Given the description of an element on the screen output the (x, y) to click on. 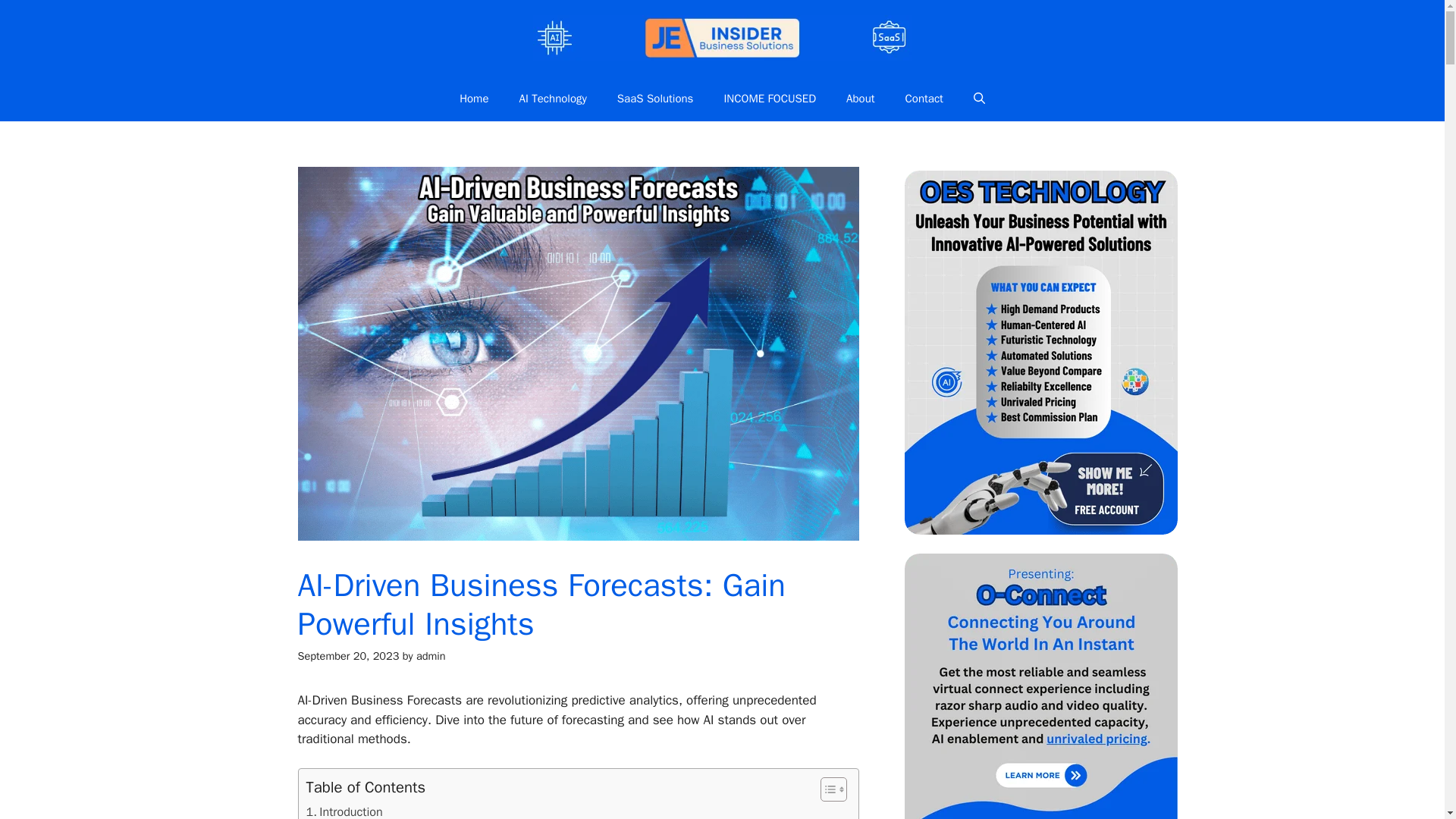
About (860, 98)
Introduction (343, 810)
View all posts by admin (430, 655)
Contact (923, 98)
Home (473, 98)
Introduction (343, 810)
admin (430, 655)
SaaS Solutions (655, 98)
INCOME FOCUSED (769, 98)
AI Technology (552, 98)
